Given the description of an element on the screen output the (x, y) to click on. 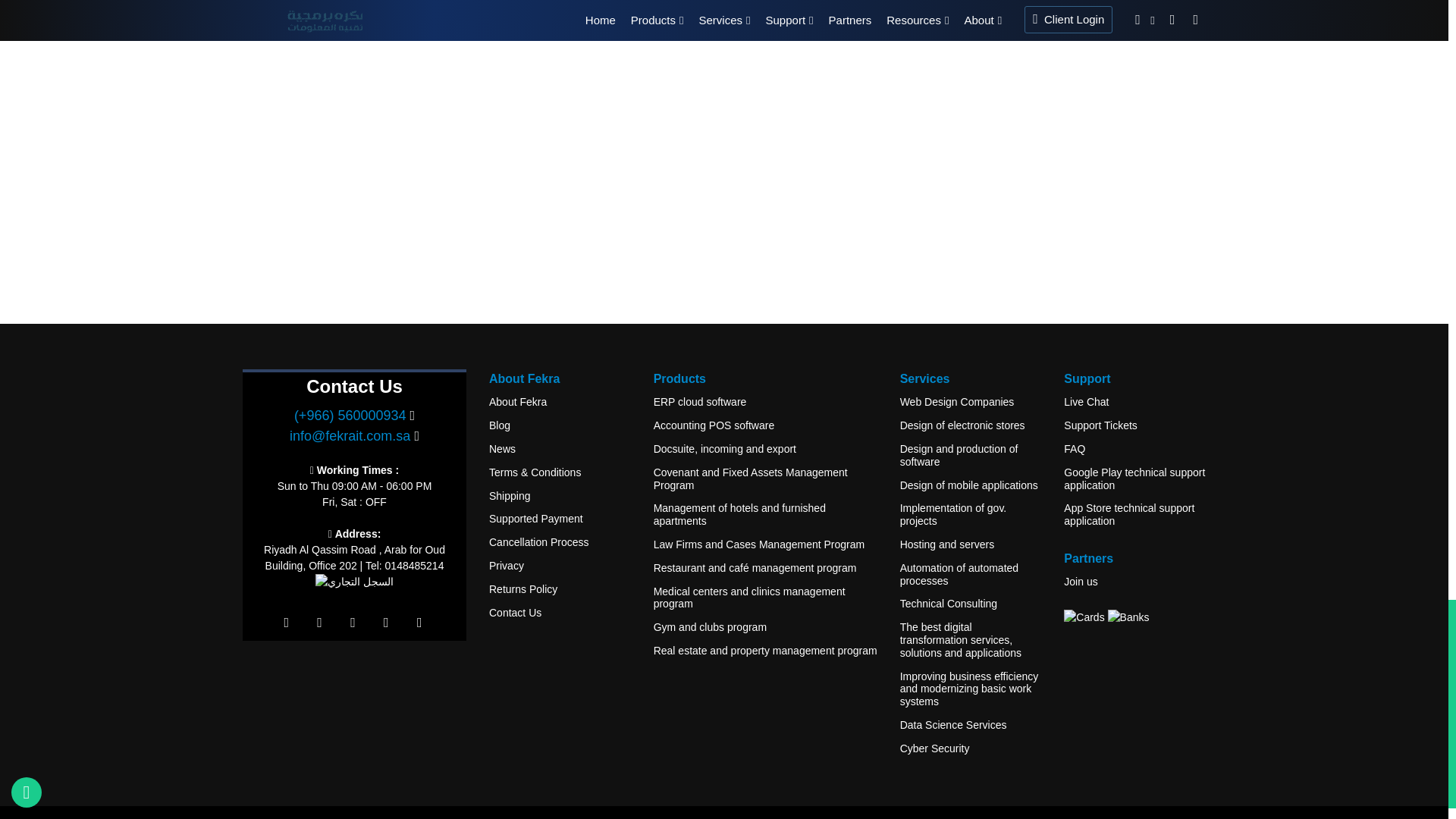
Youtube (385, 623)
Instagram (419, 623)
Facebook (286, 623)
linkedin (352, 623)
Twitter (319, 623)
